Given the description of an element on the screen output the (x, y) to click on. 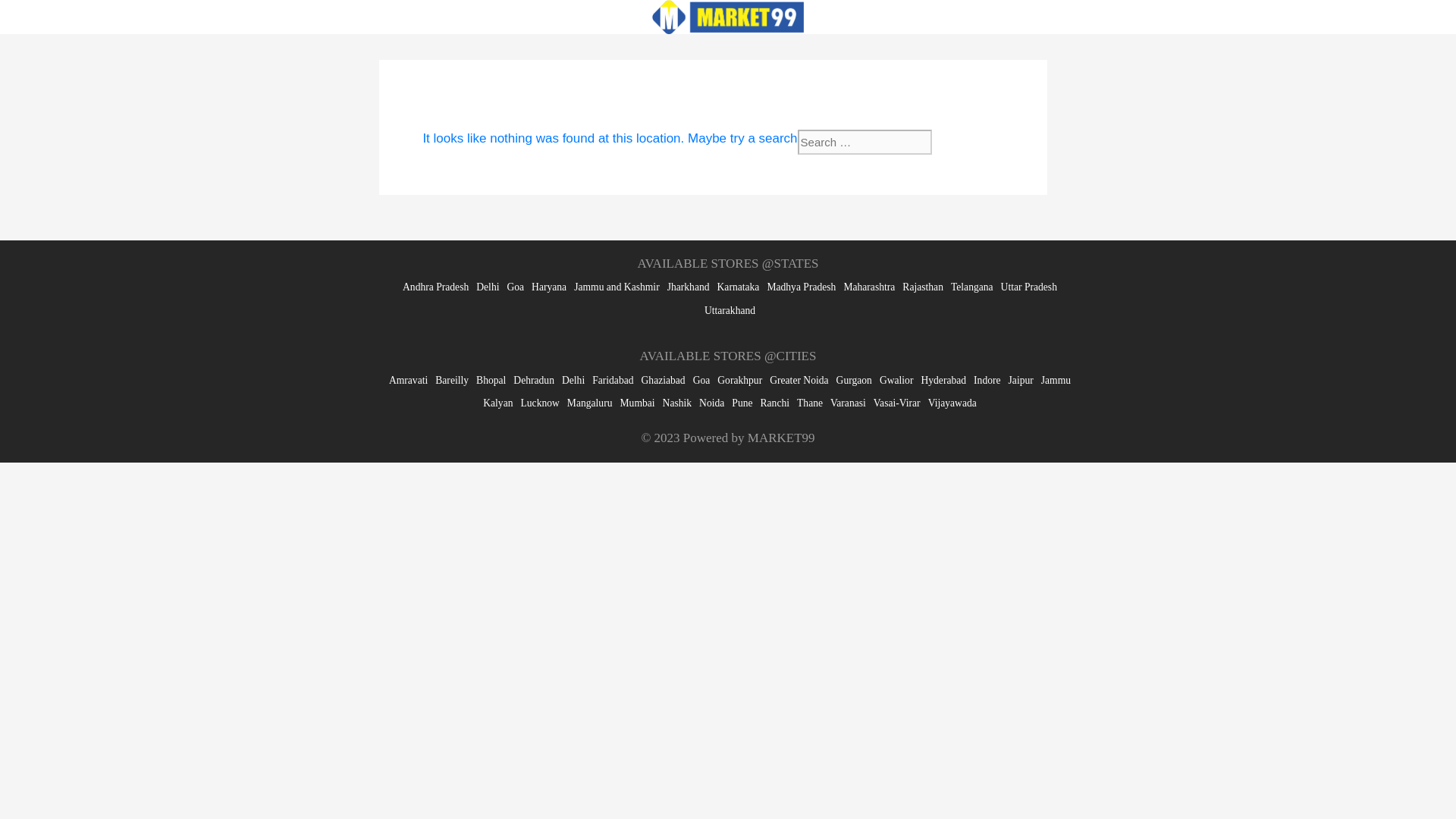
Telangana (971, 286)
Bhopal (490, 379)
Ghaziabad (663, 379)
Dehradun (533, 379)
Bareilly (451, 379)
Faridabad (612, 379)
Delhi (573, 379)
Search (961, 141)
Goa (515, 286)
Search (961, 141)
Karnataka (738, 286)
Jharkhand (688, 286)
Delhi (487, 286)
Andhra Pradesh (435, 286)
Haryana (548, 286)
